Given the description of an element on the screen output the (x, y) to click on. 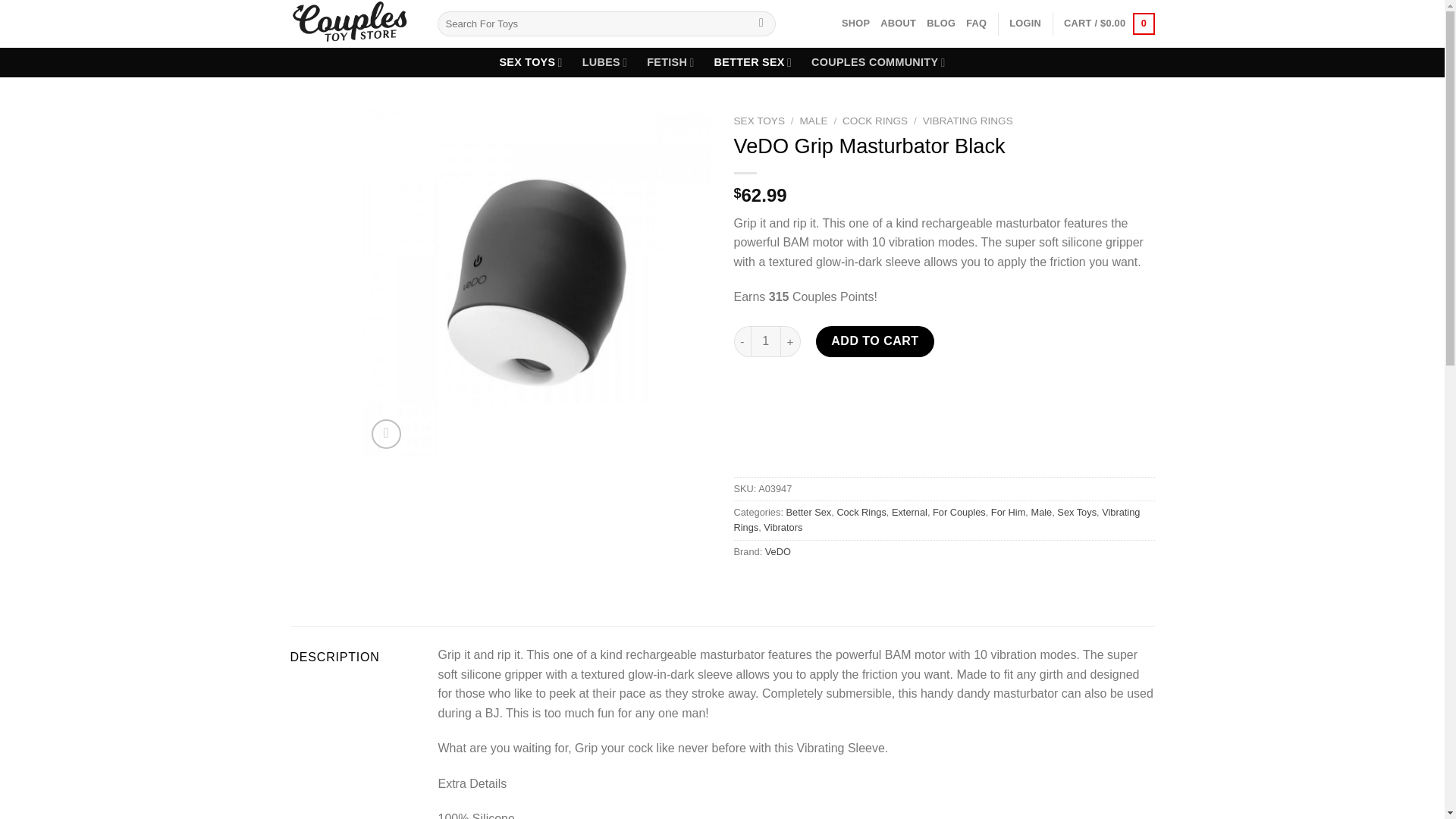
SEX TOYS (530, 61)
FAQ (976, 23)
LUBES (604, 61)
1 (765, 340)
ABOUT (897, 23)
LOGIN (1025, 23)
Search (761, 23)
About Couples Toy Store (897, 23)
BLOG (940, 23)
- (742, 340)
SHOP (855, 23)
Zoom (386, 433)
Cart (1109, 24)
